Given the description of an element on the screen output the (x, y) to click on. 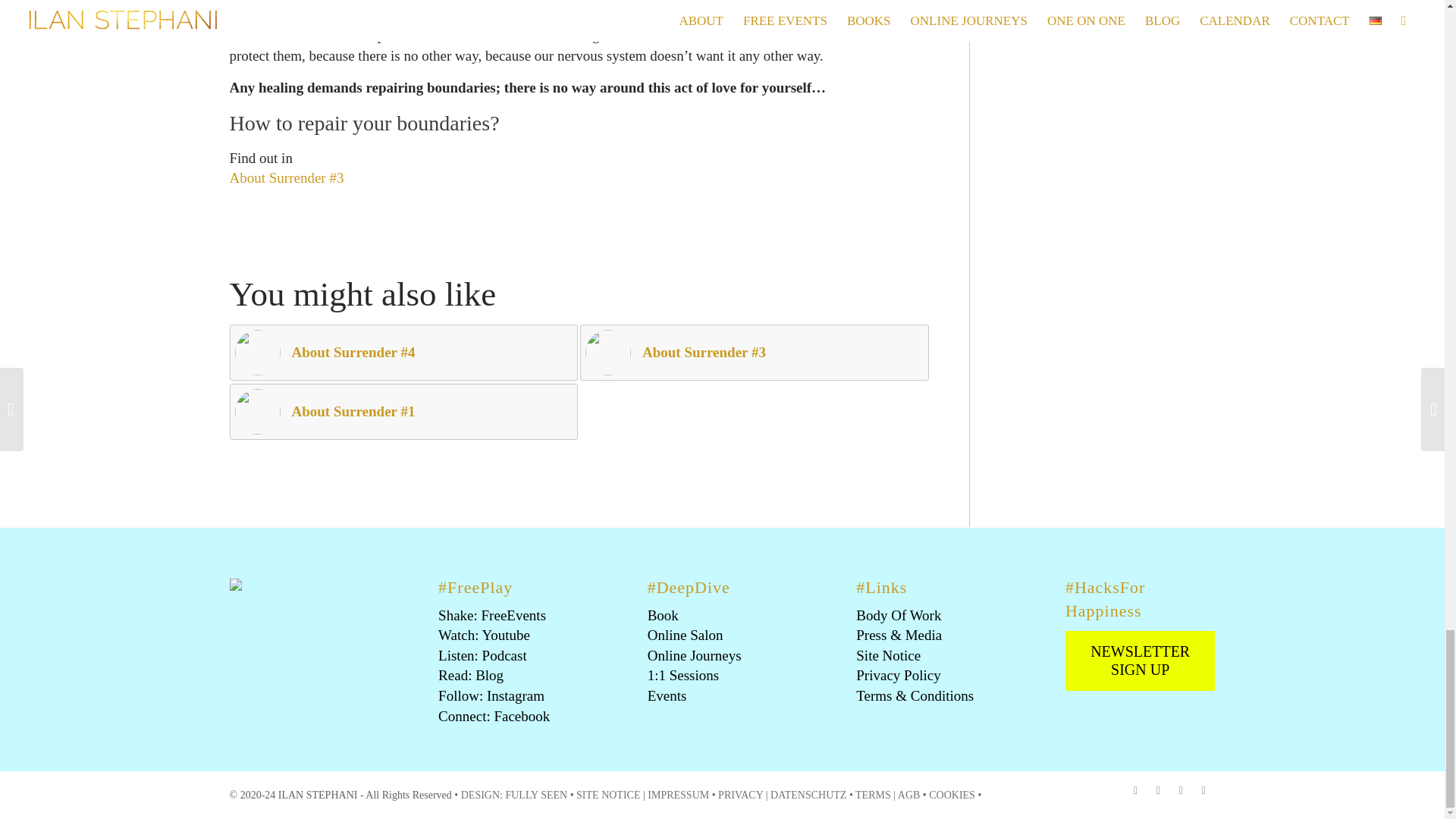
Instagram (1180, 790)
Soundcloud (1203, 790)
Facebook (1135, 790)
Youtube (1158, 790)
